Given the description of an element on the screen output the (x, y) to click on. 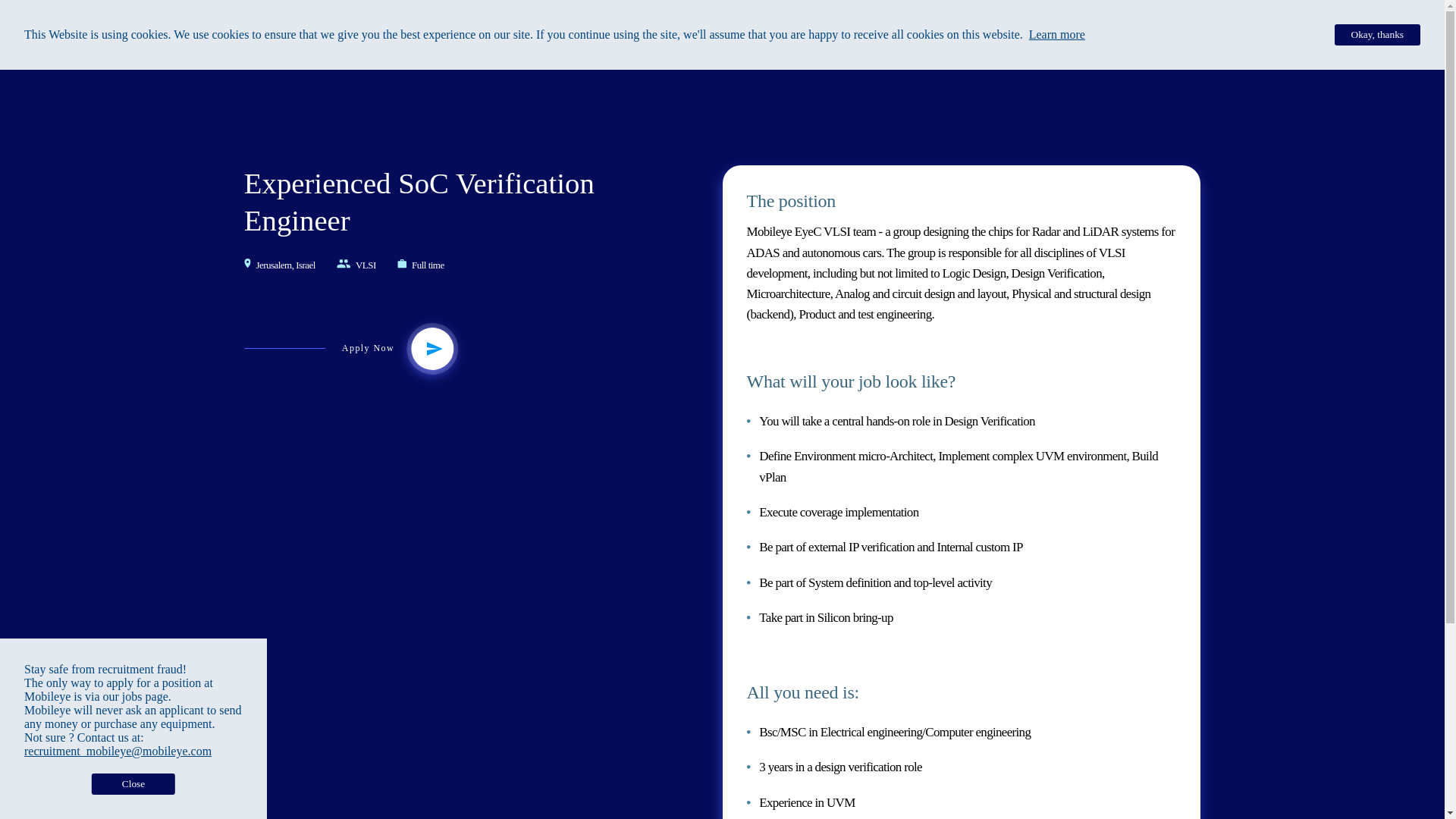
Apply Now (435, 348)
Okay, thanks (1378, 34)
MOBILEYE CAREERS (1146, 23)
Close (132, 783)
Learn more (1056, 33)
